Given the description of an element on the screen output the (x, y) to click on. 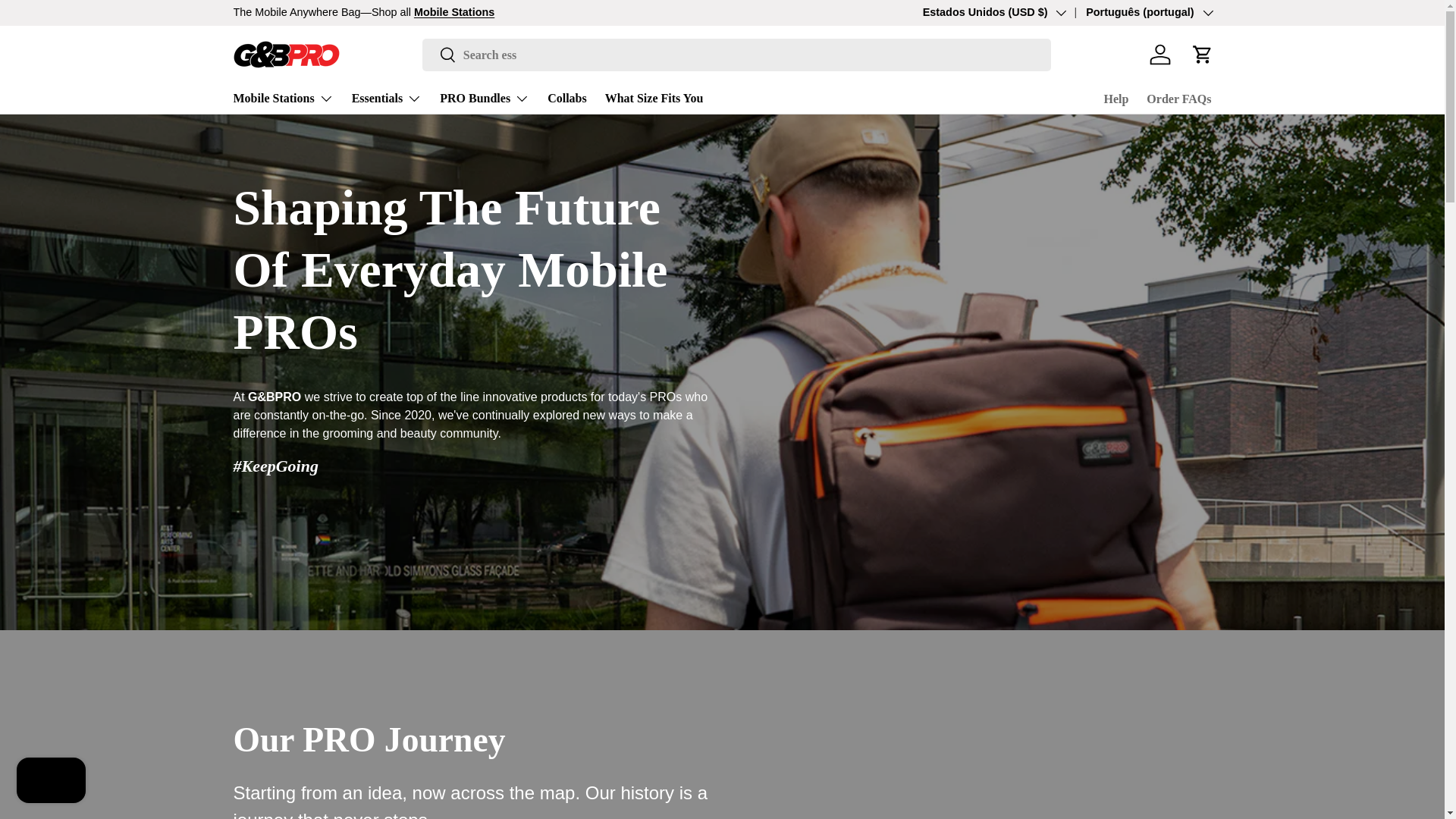
Mobile Stations (282, 98)
Essentials (387, 98)
The Essentials (1108, 11)
ESSENTIALS (1108, 11)
MOBILE STATIONS (454, 11)
Mobile Stations (454, 11)
Conversa da loja online da Shopify (50, 781)
Pesquisar (439, 55)
Carrinho (1203, 54)
